Given the description of an element on the screen output the (x, y) to click on. 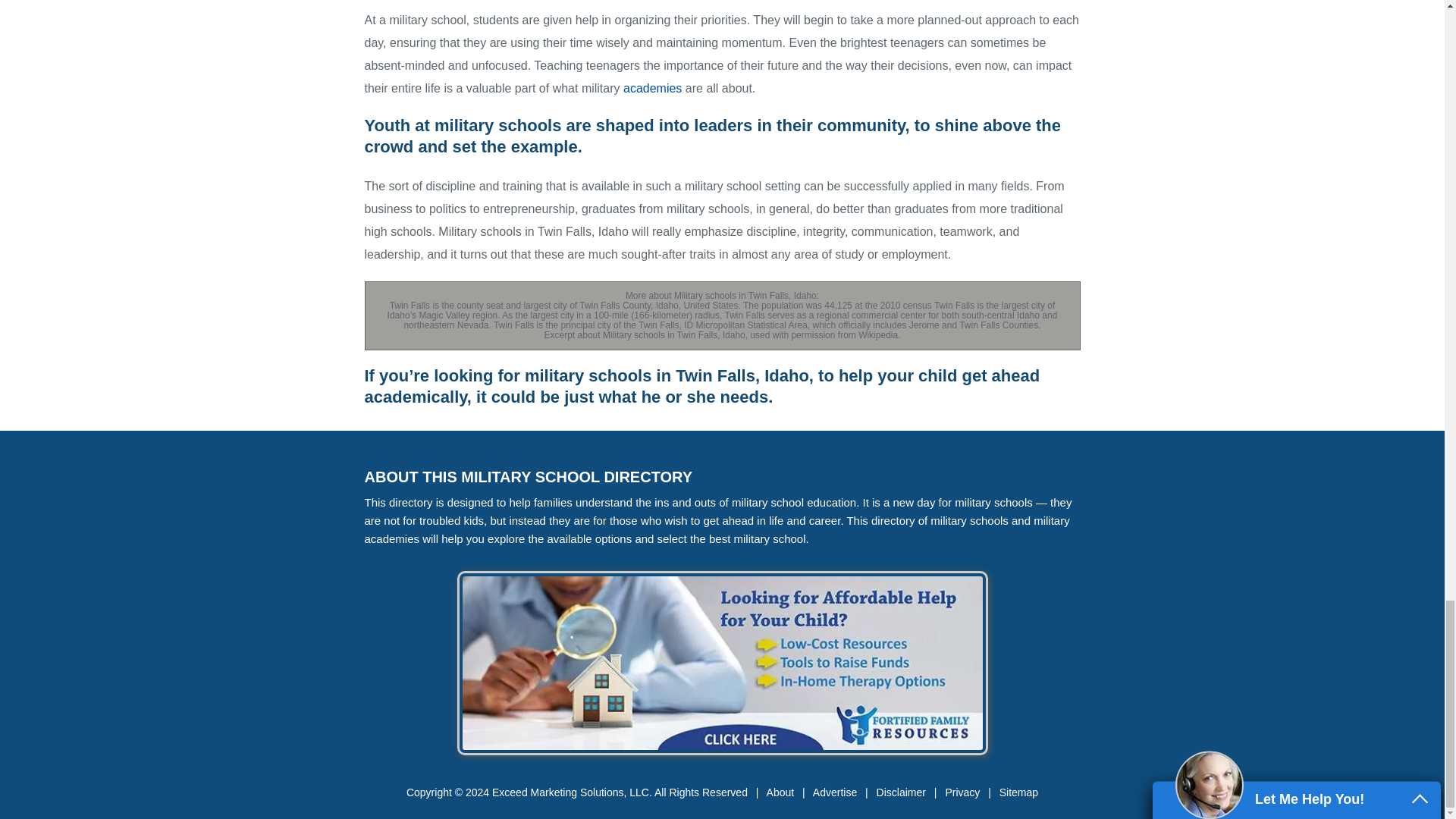
Privacy (961, 792)
Advertise (834, 792)
Disclaimer (901, 792)
Sitemap (1018, 792)
academies (652, 88)
About (780, 792)
